Given the description of an element on the screen output the (x, y) to click on. 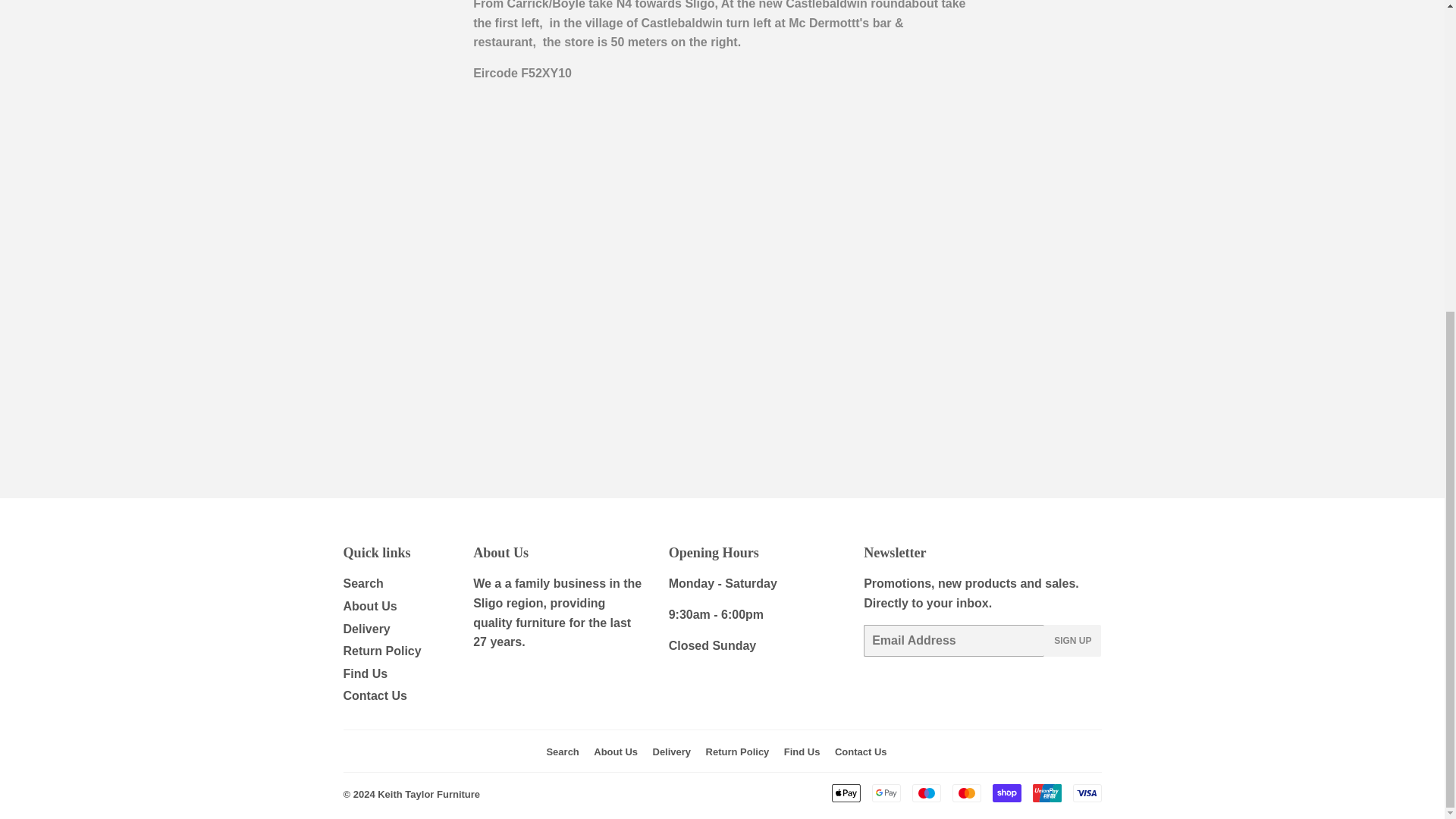
Apple Pay (845, 792)
Maestro (925, 792)
Mastercard (966, 792)
Google Pay (886, 792)
Shop Pay (1005, 792)
Union Pay (1046, 792)
Visa (1085, 792)
